Given the description of an element on the screen output the (x, y) to click on. 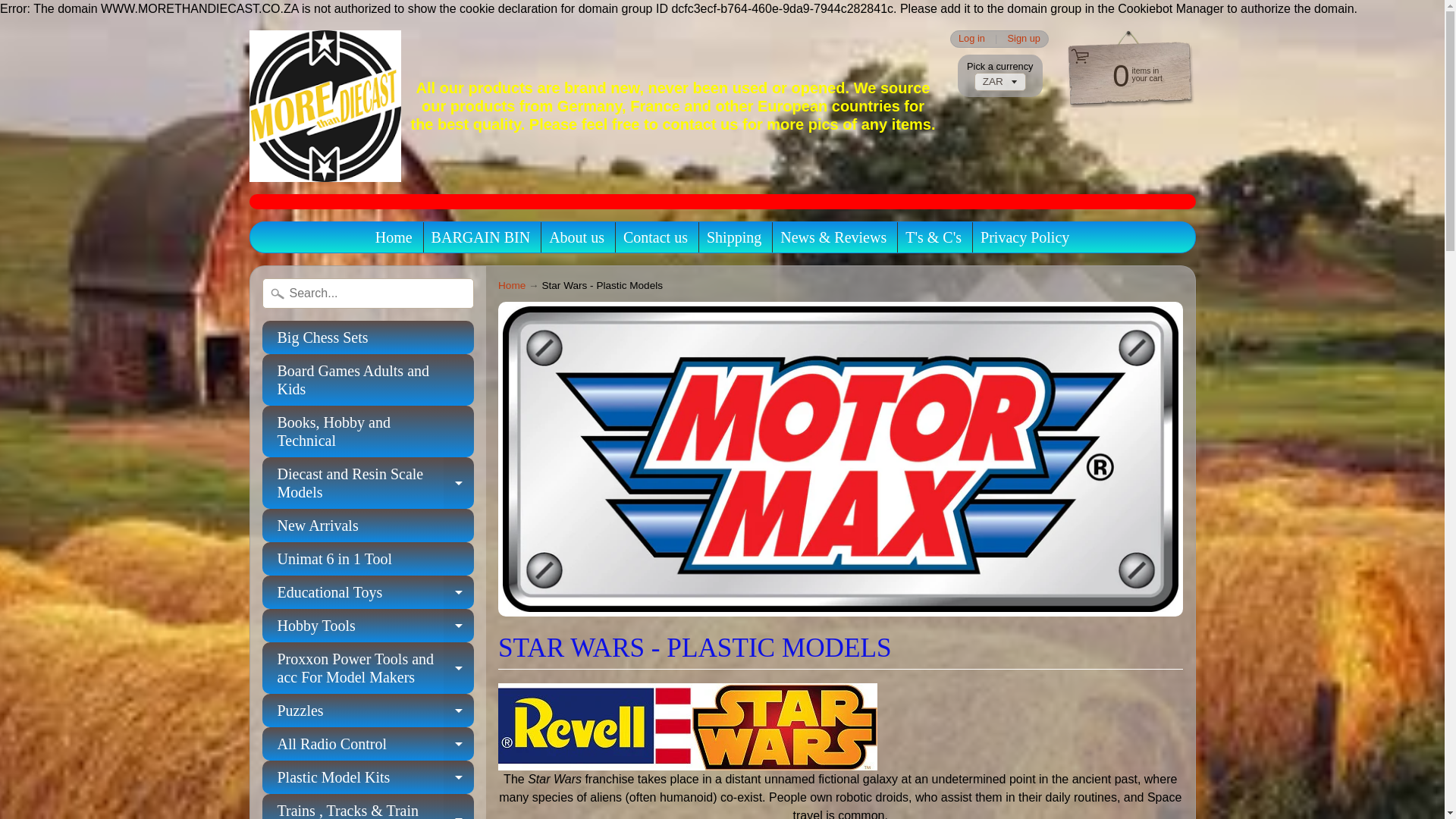
Privacy Policy (1024, 236)
Board Games Adults and Kids (368, 379)
Books, Hobby and Technical (368, 431)
Shipping (733, 236)
Back to the home page (511, 285)
BARGAIN BIN (480, 236)
Morethandiecast.co.za (324, 105)
Big Chess Sets (368, 337)
Home (394, 236)
Contact us (368, 482)
Log in (1122, 74)
Sign up (655, 236)
About us (970, 39)
